Given the description of an element on the screen output the (x, y) to click on. 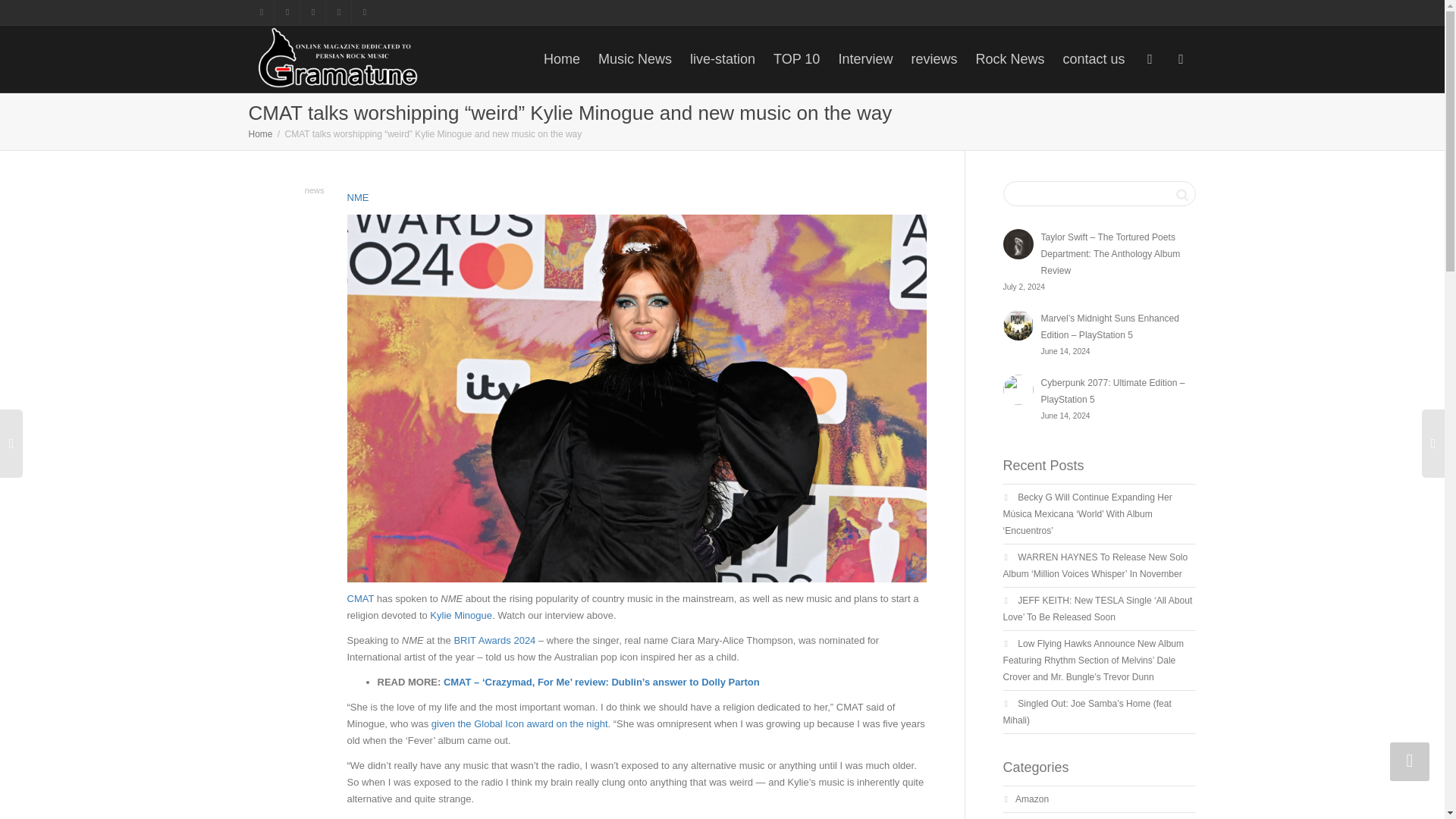
live-station (722, 58)
Kylie Minogue (460, 614)
Music News (634, 58)
given the Global Icon award on the night (519, 723)
Rock News (1009, 58)
Rock News (1009, 58)
Search (1181, 194)
Search (1181, 194)
CMAT (360, 598)
contact us (1093, 58)
